Given the description of an element on the screen output the (x, y) to click on. 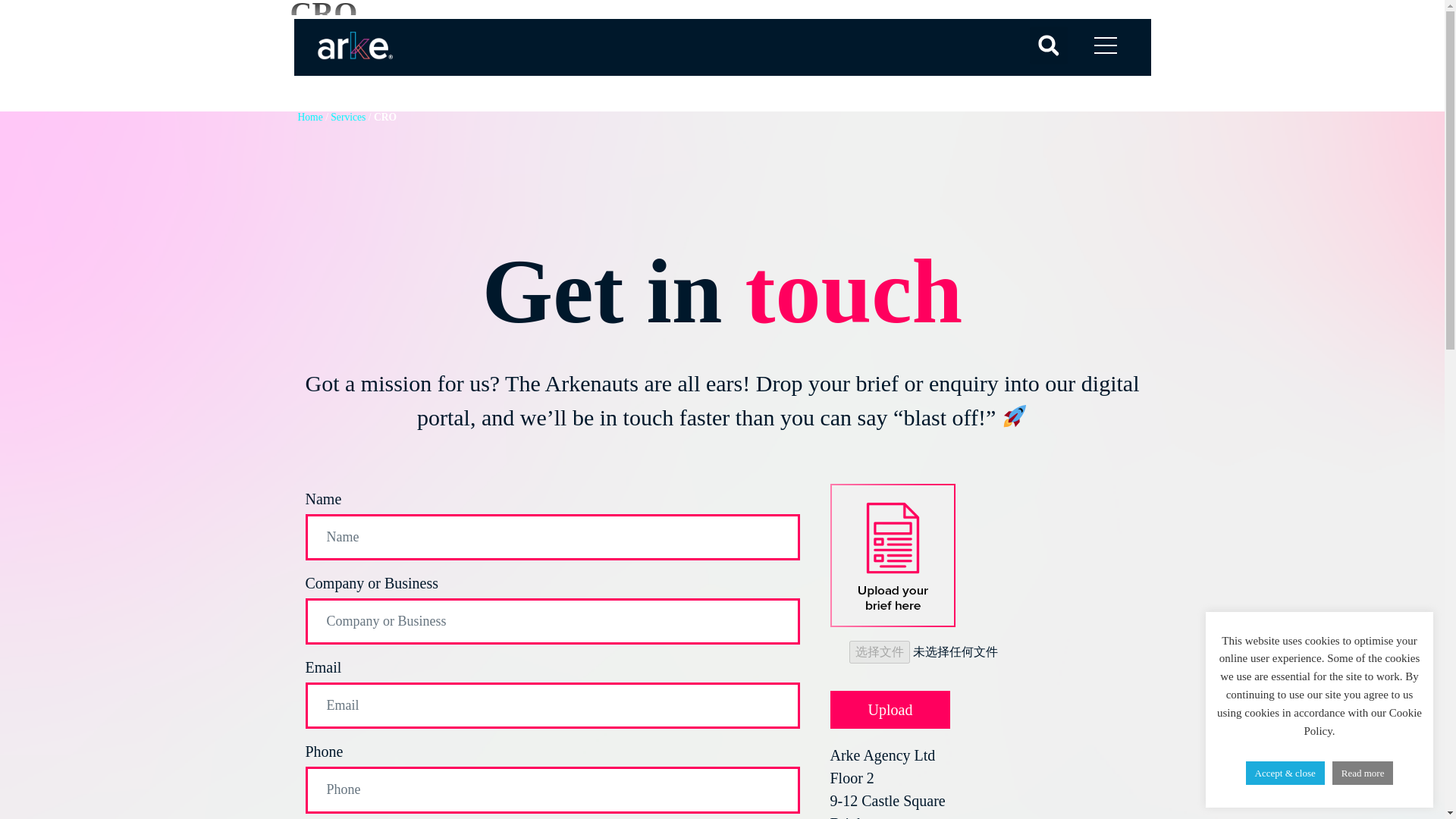
Home (309, 116)
Services (347, 116)
Read more (1362, 772)
Upload (889, 709)
